Given the description of an element on the screen output the (x, y) to click on. 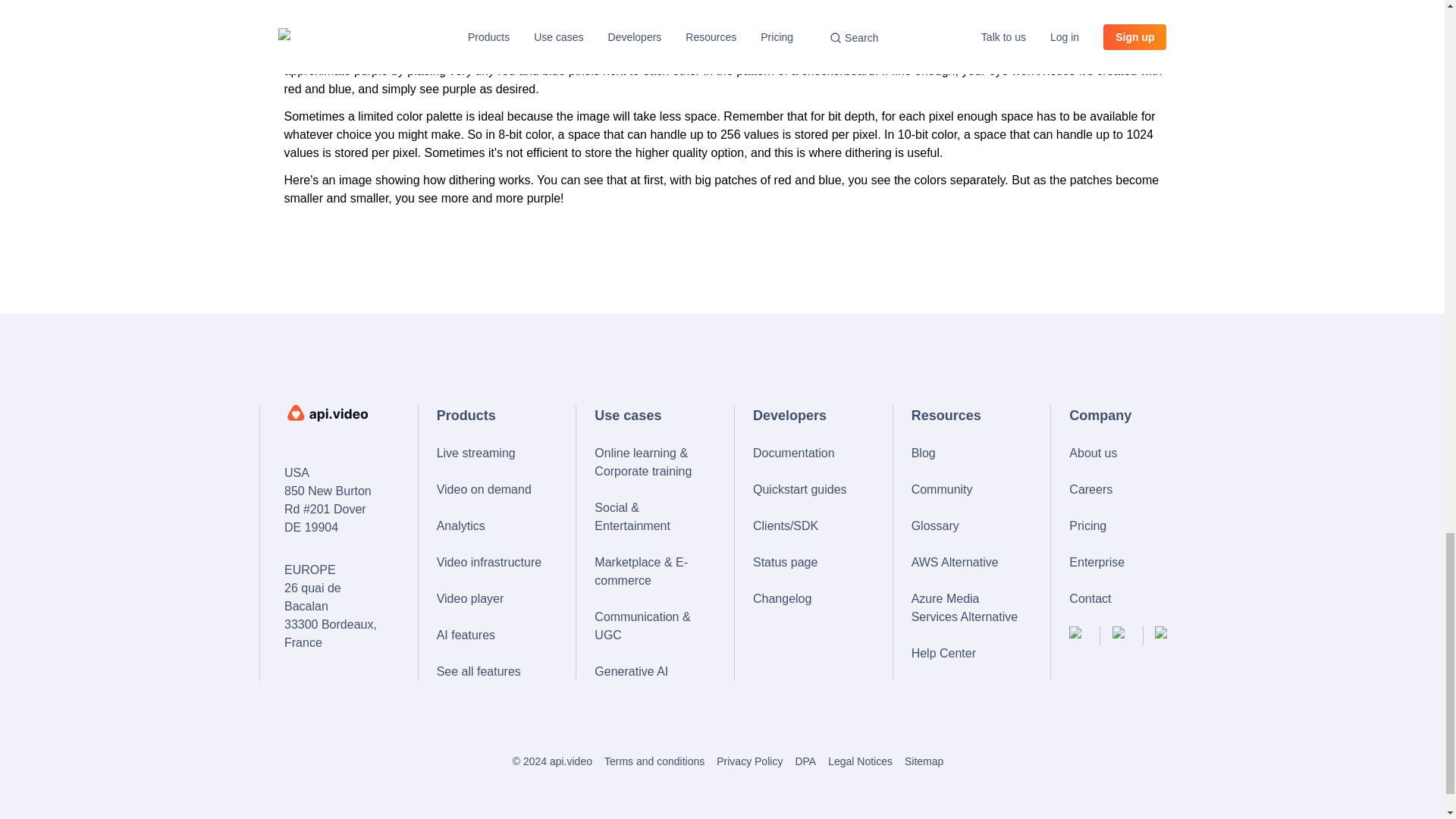
Video on demand (491, 489)
Live streaming (491, 453)
Video infrastructure (491, 562)
Analytics (491, 525)
Video player (491, 598)
